Given the description of an element on the screen output the (x, y) to click on. 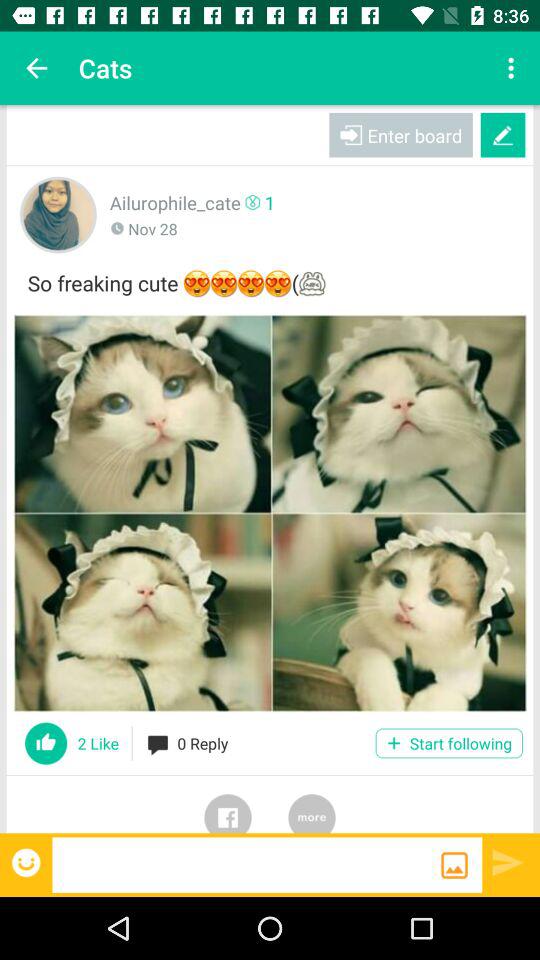
send message (508, 862)
